Given the description of an element on the screen output the (x, y) to click on. 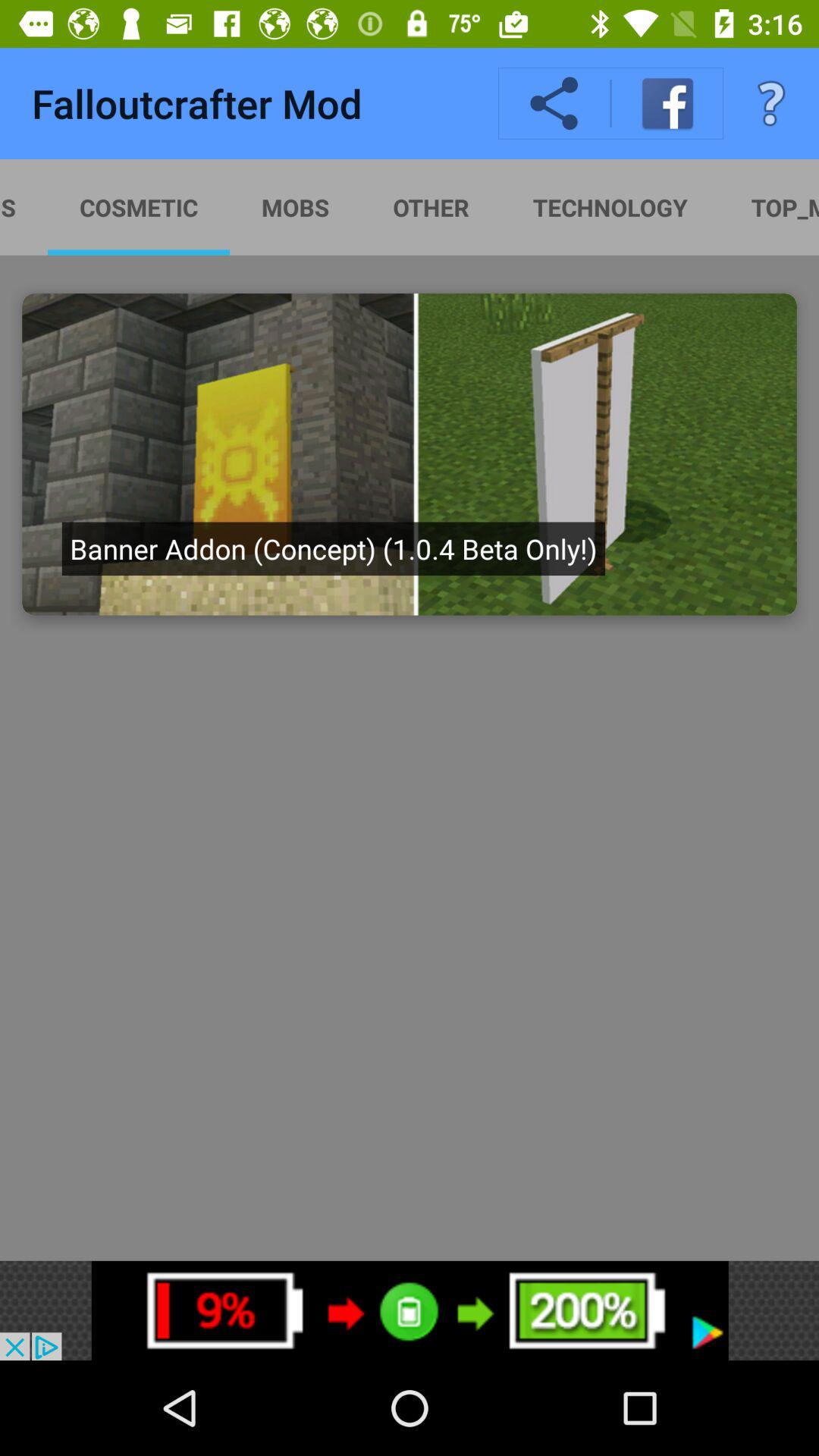
advatisment (409, 454)
